Given the description of an element on the screen output the (x, y) to click on. 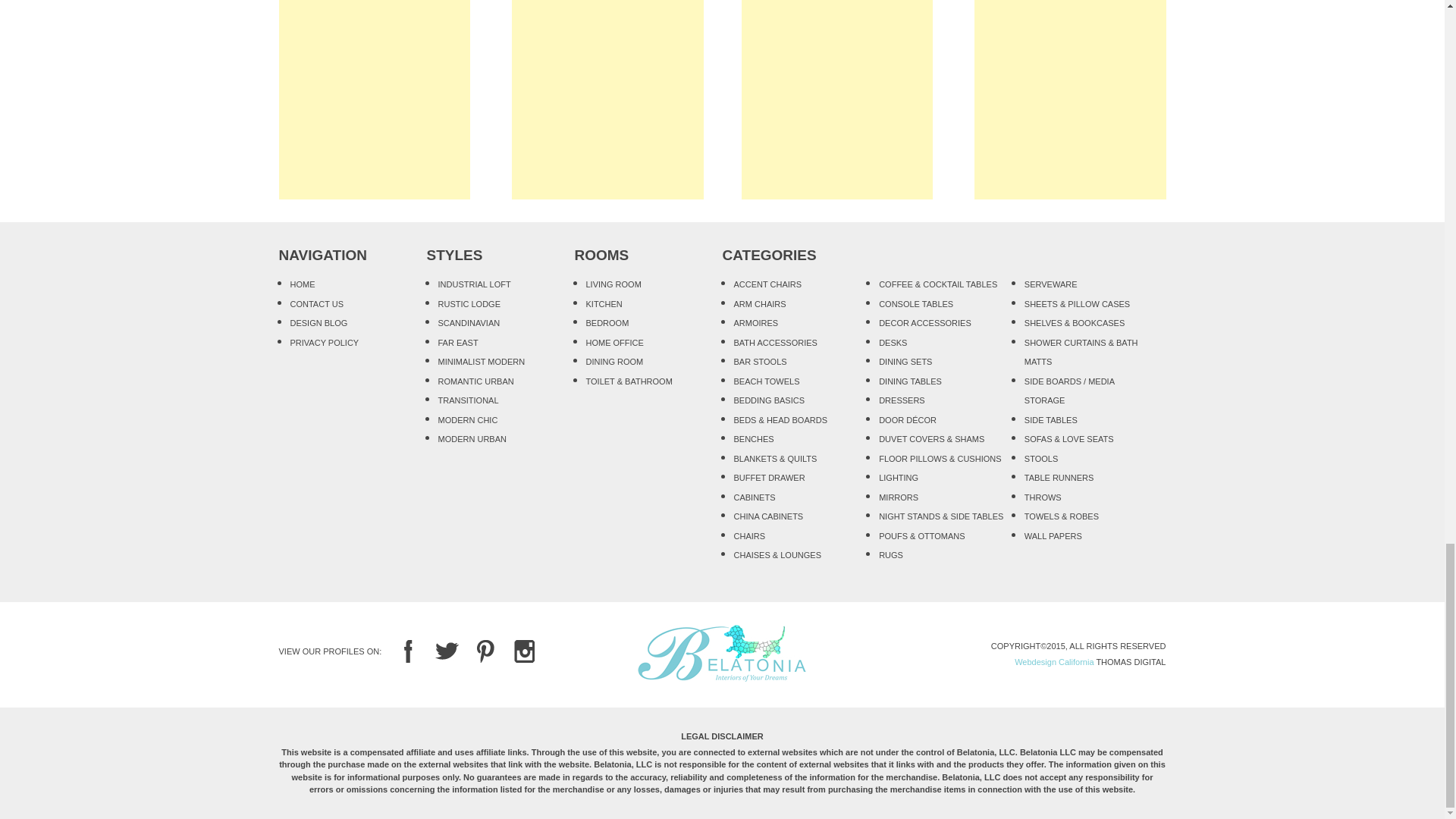
Advertisement (1070, 99)
HOME (301, 284)
KITCHEN (603, 302)
Advertisement (837, 99)
CONTACT US (316, 302)
LIVING ROOM (612, 284)
MODERN URBAN (472, 438)
MODERN CHIC (467, 420)
DESIGN BLOG (318, 322)
PRIVACY POLICY (323, 342)
SCANDINAVIAN (469, 322)
Advertisement (374, 99)
Advertisement (607, 99)
ROMANTIC URBAN (475, 379)
INDUSTRIAL LOFT (474, 284)
